Given the description of an element on the screen output the (x, y) to click on. 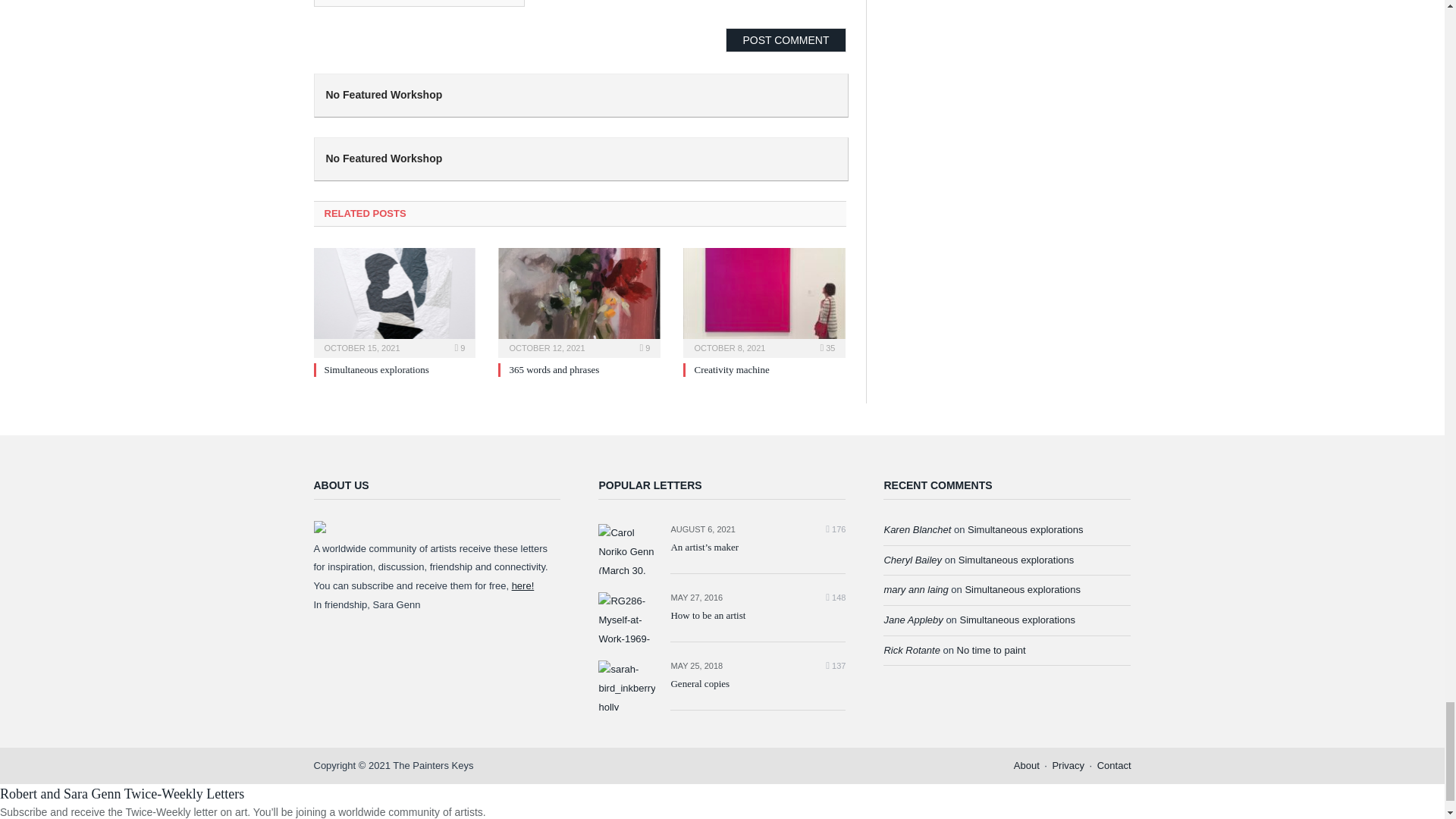
Post Comment (785, 39)
Post Comment (785, 39)
